Given the description of an element on the screen output the (x, y) to click on. 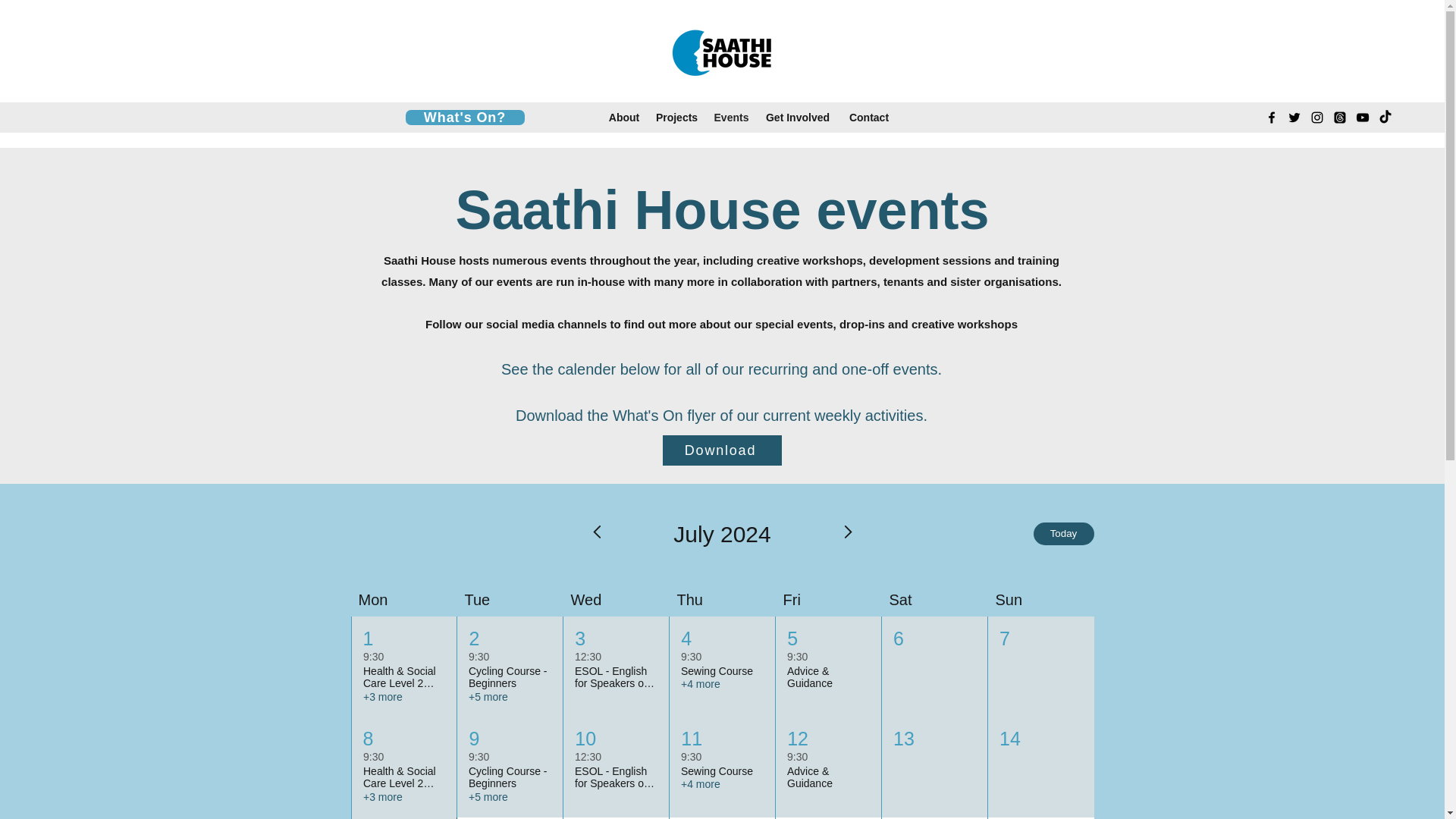
Get Involved (797, 117)
Projects (676, 117)
What's On? (464, 117)
Download (721, 450)
Today (1062, 534)
Contact (868, 117)
Events (731, 117)
